Given the description of an element on the screen output the (x, y) to click on. 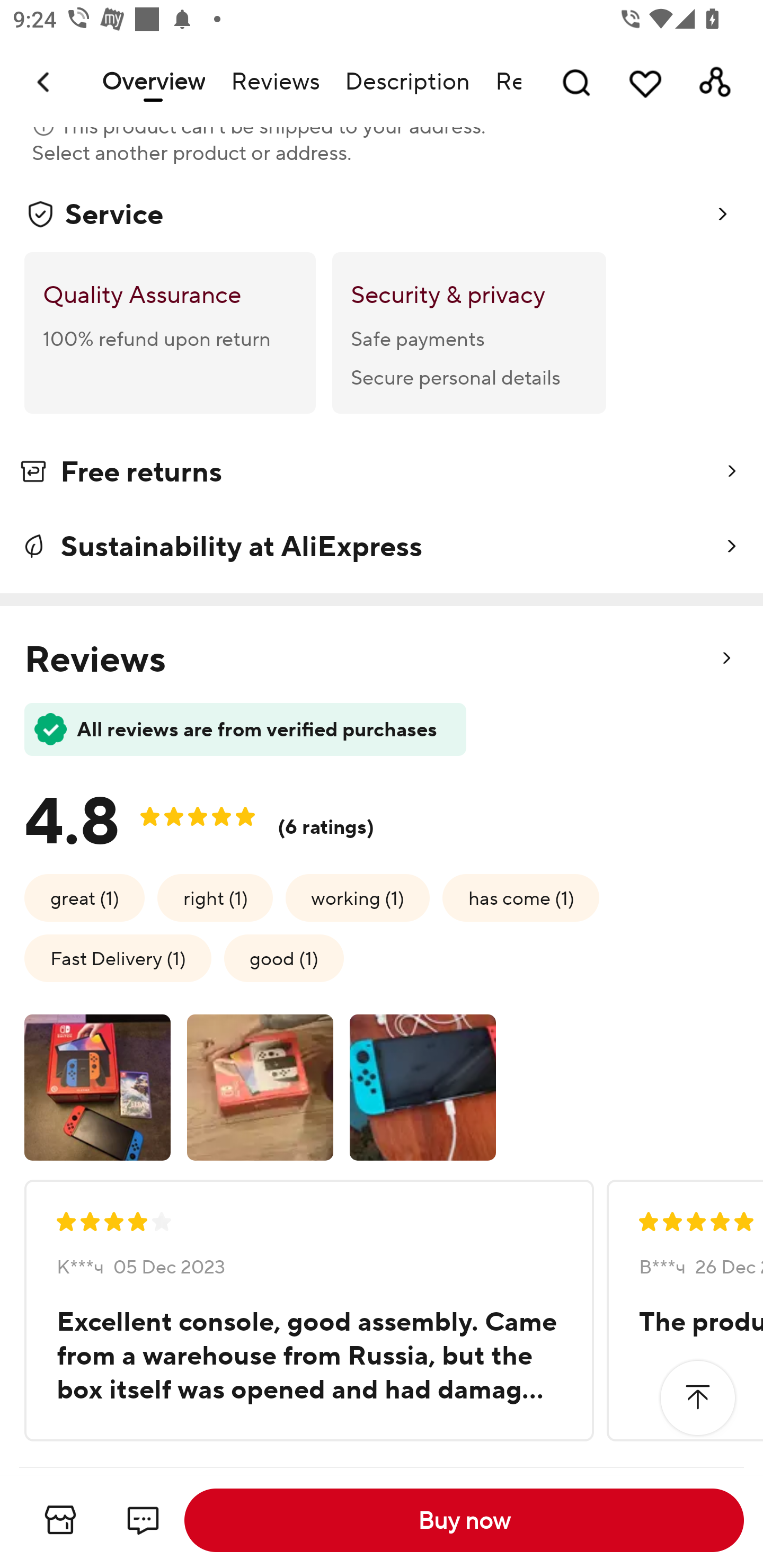
Navigate up (44, 82)
Reviews (274, 81)
Description (406, 81)
Free returns  (381, 475)
Sustainability at AliExpress  (381, 546)
4.8 48.0 (6 ratings) (213, 815)
great (1) (84, 897)
right (1) (215, 897)
working (1) (357, 897)
has come (1) (520, 897)
Fast Delivery (1) (117, 957)
good (1) (284, 957)
 (697, 1397)
Buy now (463, 1520)
